Given the description of an element on the screen output the (x, y) to click on. 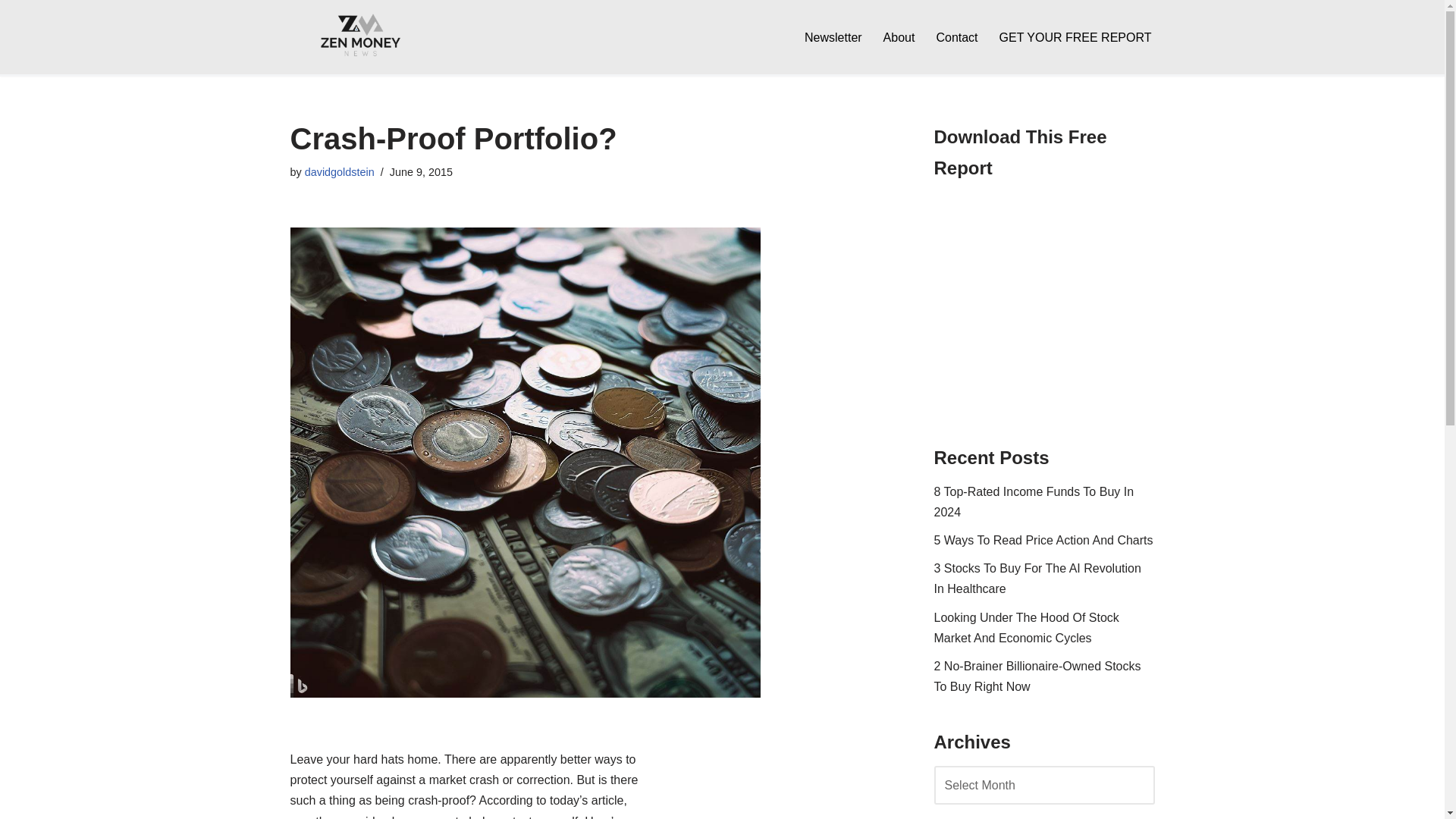
Newsletter (833, 37)
3 Stocks To Buy For The AI Revolution In Healthcare (1037, 578)
5 Ways To Read Price Action And Charts (1043, 540)
Posts by davidgoldstein (339, 172)
Skip to content (11, 31)
Contact (956, 37)
2 No-Brainer Billionaire-Owned Stocks To Buy Right Now (1037, 676)
8 Top-Rated Income Funds To Buy In 2024 (1034, 501)
GET YOUR FREE REPORT (1074, 37)
davidgoldstein (339, 172)
